Given the description of an element on the screen output the (x, y) to click on. 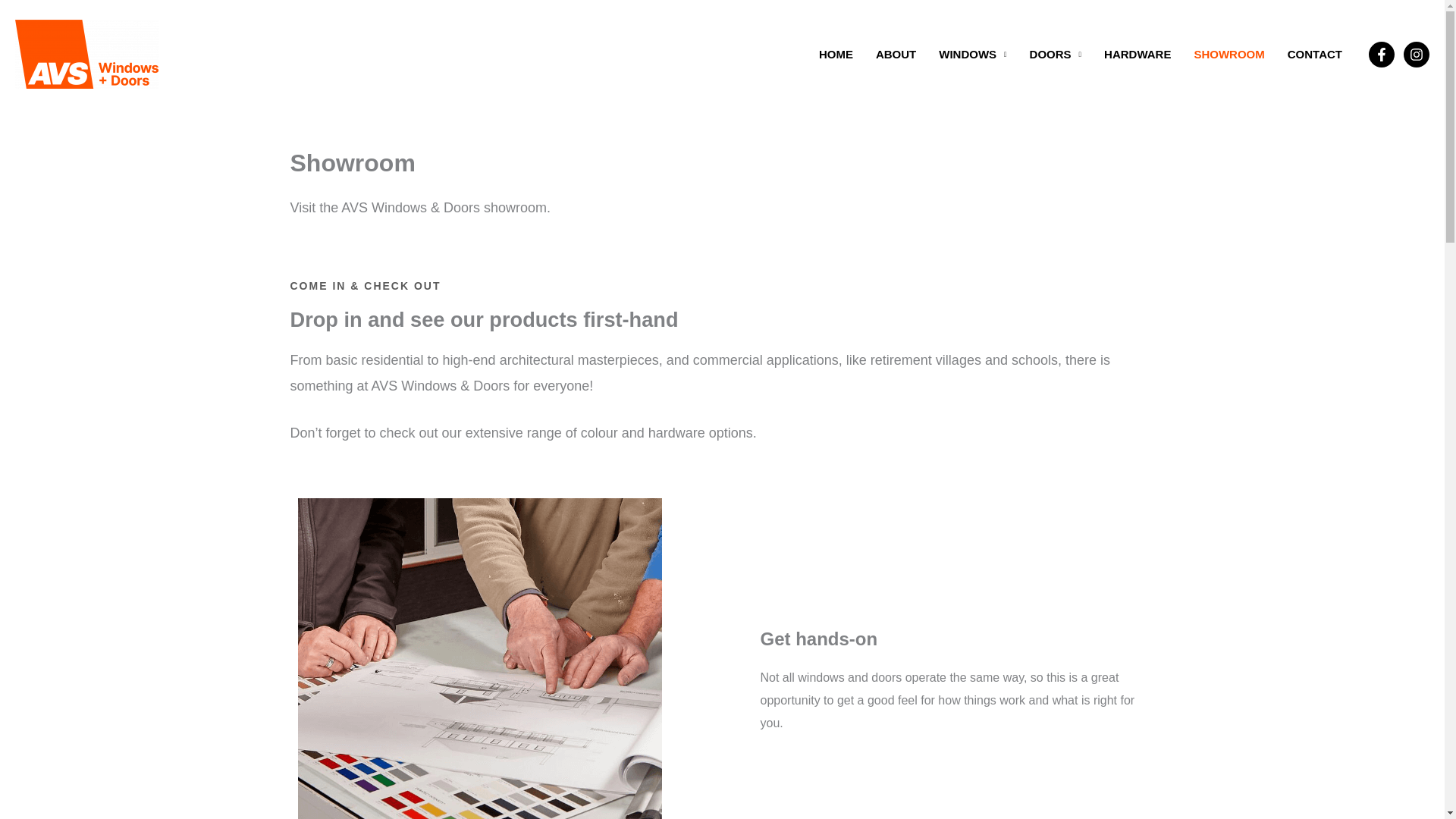
HOME (836, 53)
DOORS (1055, 53)
HARDWARE (1137, 53)
SHOWROOM (1228, 53)
CONTACT (1315, 53)
ABOUT (895, 53)
WINDOWS (972, 53)
